Given the description of an element on the screen output the (x, y) to click on. 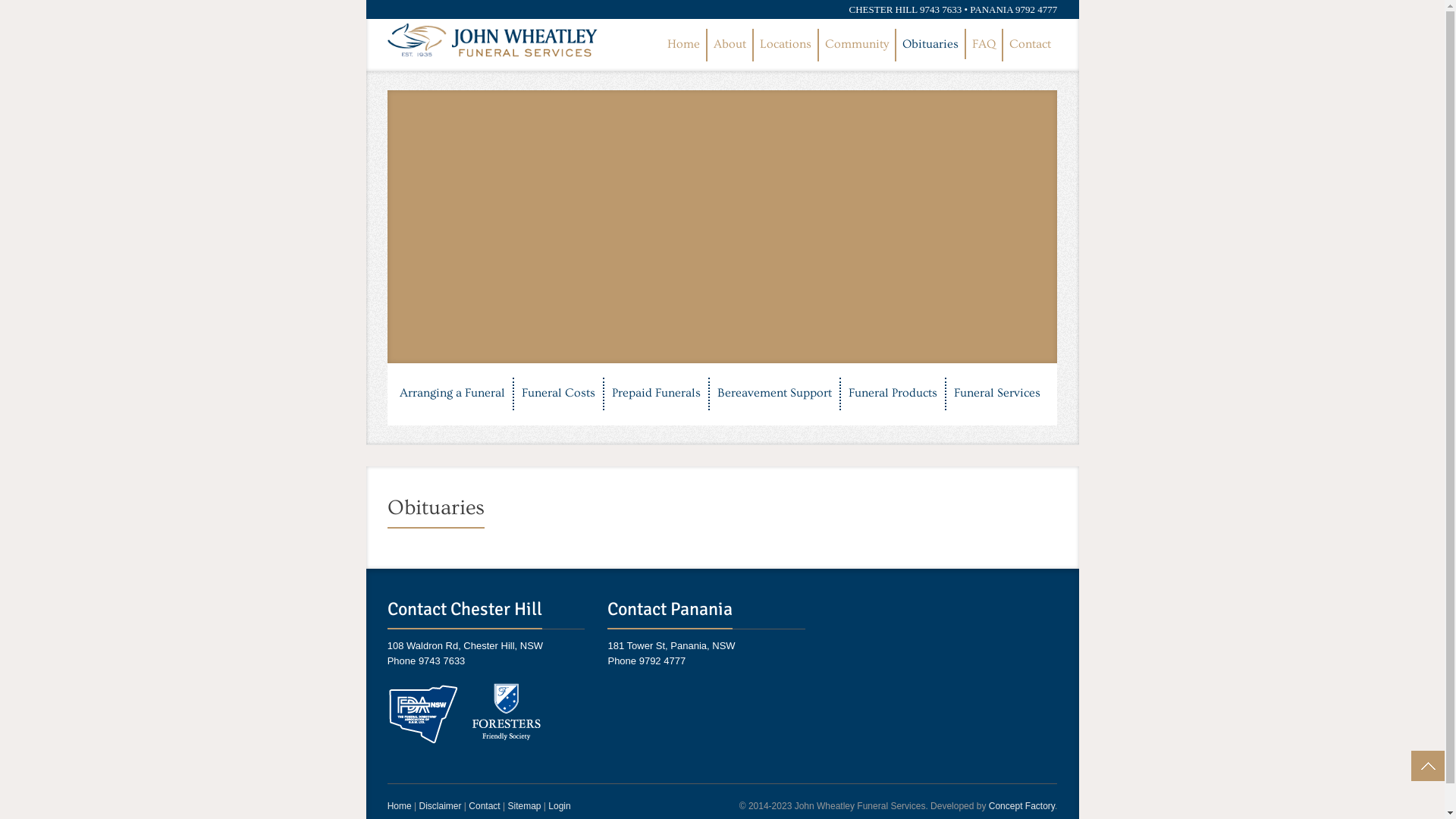
Disclaimer Element type: text (439, 805)
Sitemap Element type: text (523, 805)
Locations Element type: text (785, 44)
Contact Element type: text (1030, 44)
FAQ Element type: text (983, 44)
Funeral Costs Element type: text (558, 393)
Go to top of page Element type: text (1427, 765)
Funeral Services Element type: text (996, 393)
Contact Element type: text (483, 805)
About Element type: text (729, 44)
Home Element type: text (399, 805)
Funeral Products Element type: text (892, 393)
Arranging a Funeral Element type: text (452, 393)
Login Element type: text (559, 805)
Bereavement Support Element type: text (774, 393)
Community Element type: text (856, 44)
Prepaid Funerals Element type: text (655, 393)
Obituaries Element type: text (930, 43)
Concept Factory Element type: text (1021, 805)
Home Element type: text (683, 44)
